Given the description of an element on the screen output the (x, y) to click on. 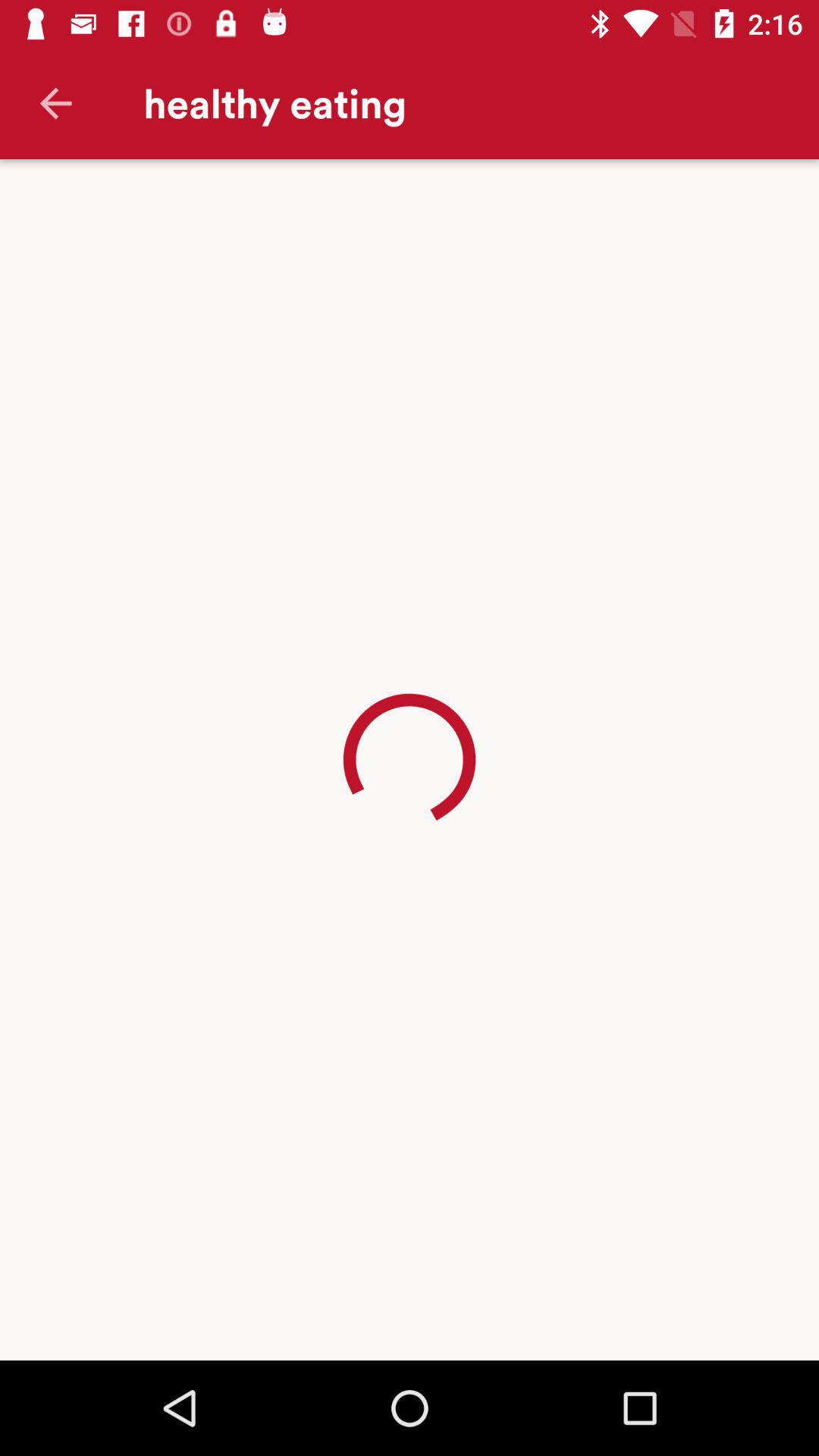
turn off the item to the left of the healthy eating icon (55, 103)
